Given the description of an element on the screen output the (x, y) to click on. 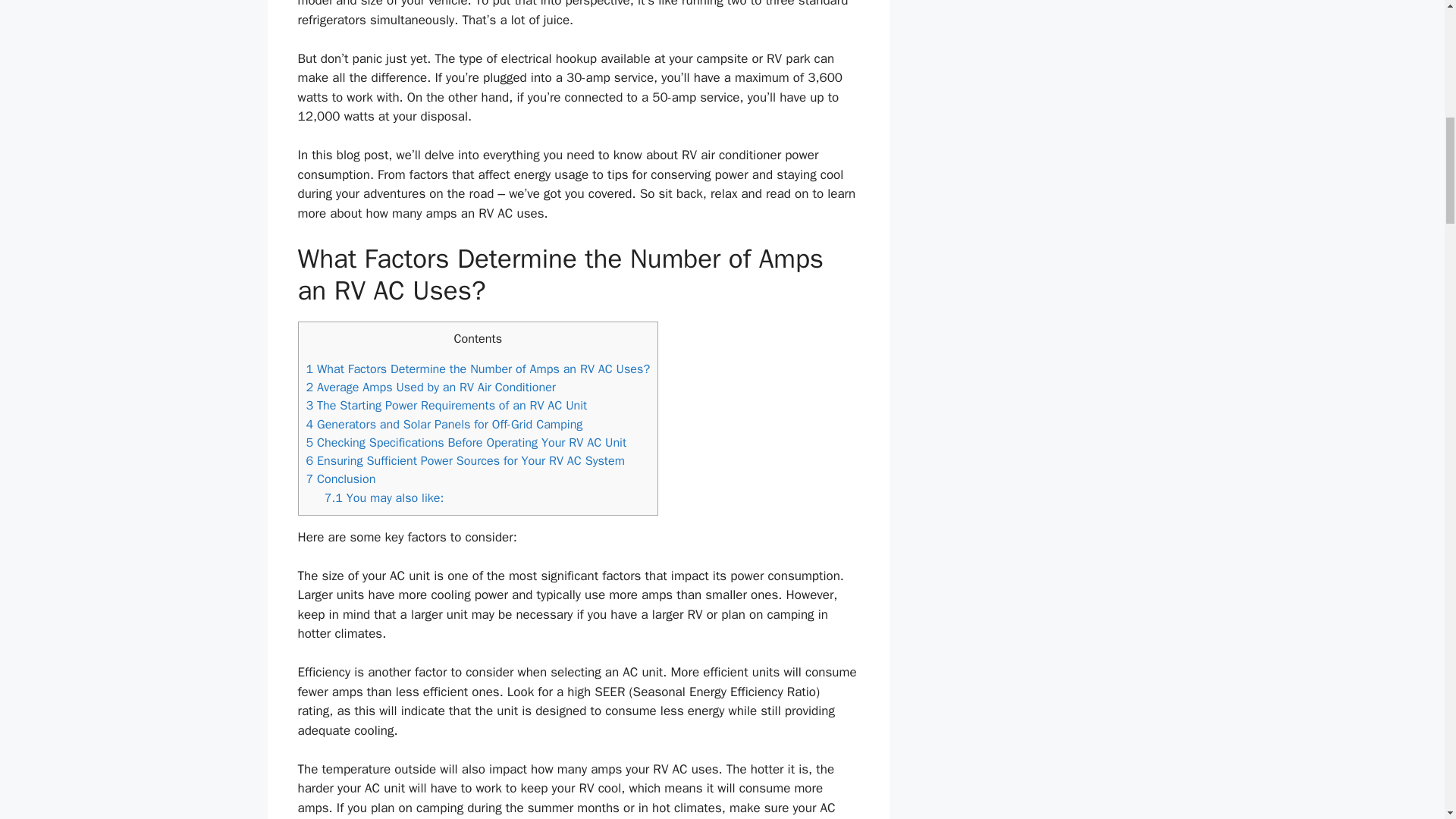
3 The Starting Power Requirements of an RV AC Unit (446, 405)
5 Checking Specifications Before Operating Your RV AC Unit (466, 442)
1 What Factors Determine the Number of Amps an RV AC Uses? (477, 368)
7.1 You may also like: (384, 497)
4 Generators and Solar Panels for Off-Grid Camping (444, 424)
2 Average Amps Used by an RV Air Conditioner (430, 386)
7 Conclusion (340, 478)
6 Ensuring Sufficient Power Sources for Your RV AC System (464, 460)
